Given the description of an element on the screen output the (x, y) to click on. 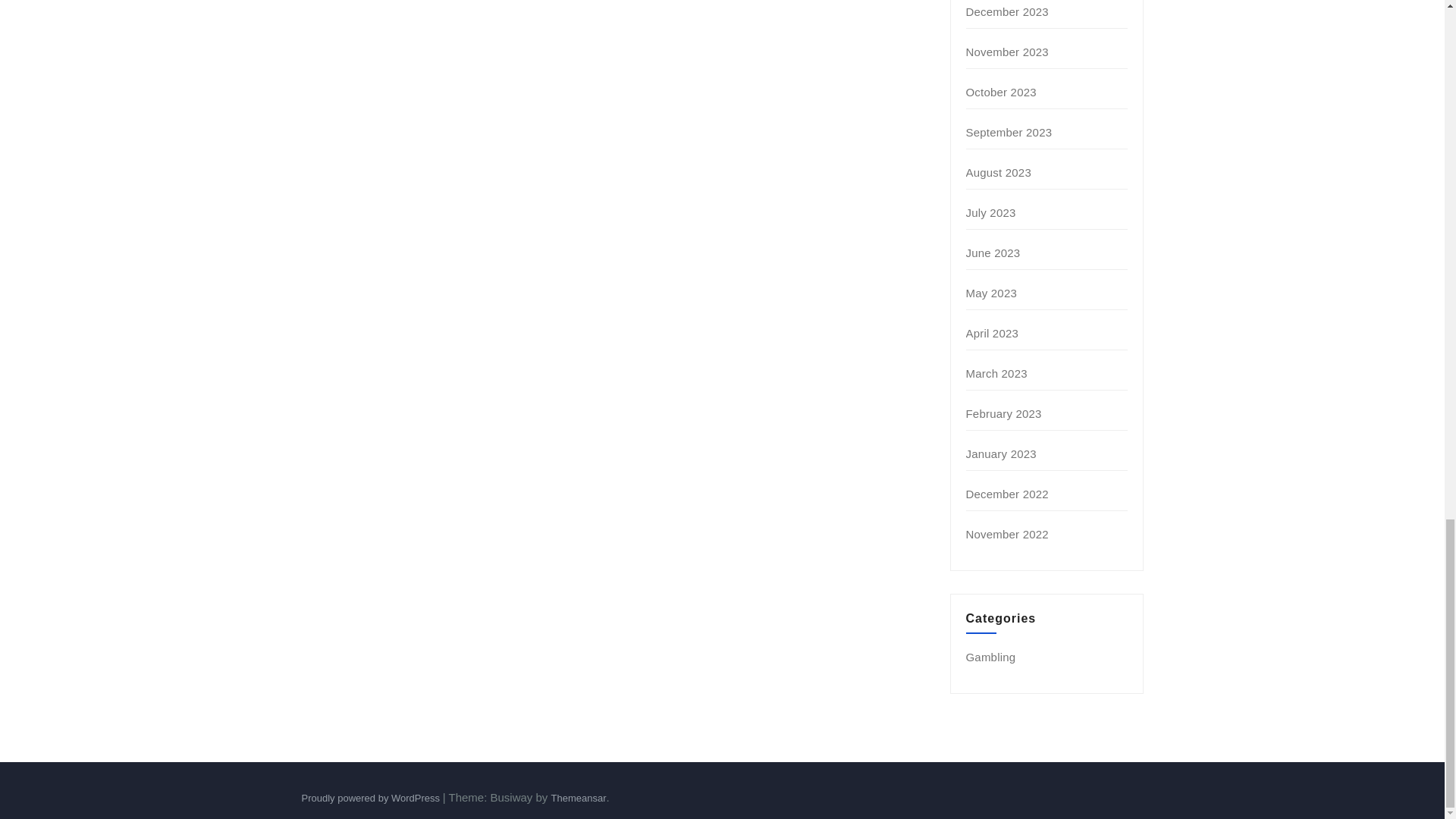
September 2023 (1009, 132)
July 2023 (991, 212)
November 2023 (1007, 51)
August 2023 (998, 172)
October 2023 (1001, 91)
June 2023 (993, 252)
December 2023 (1007, 11)
